Given the description of an element on the screen output the (x, y) to click on. 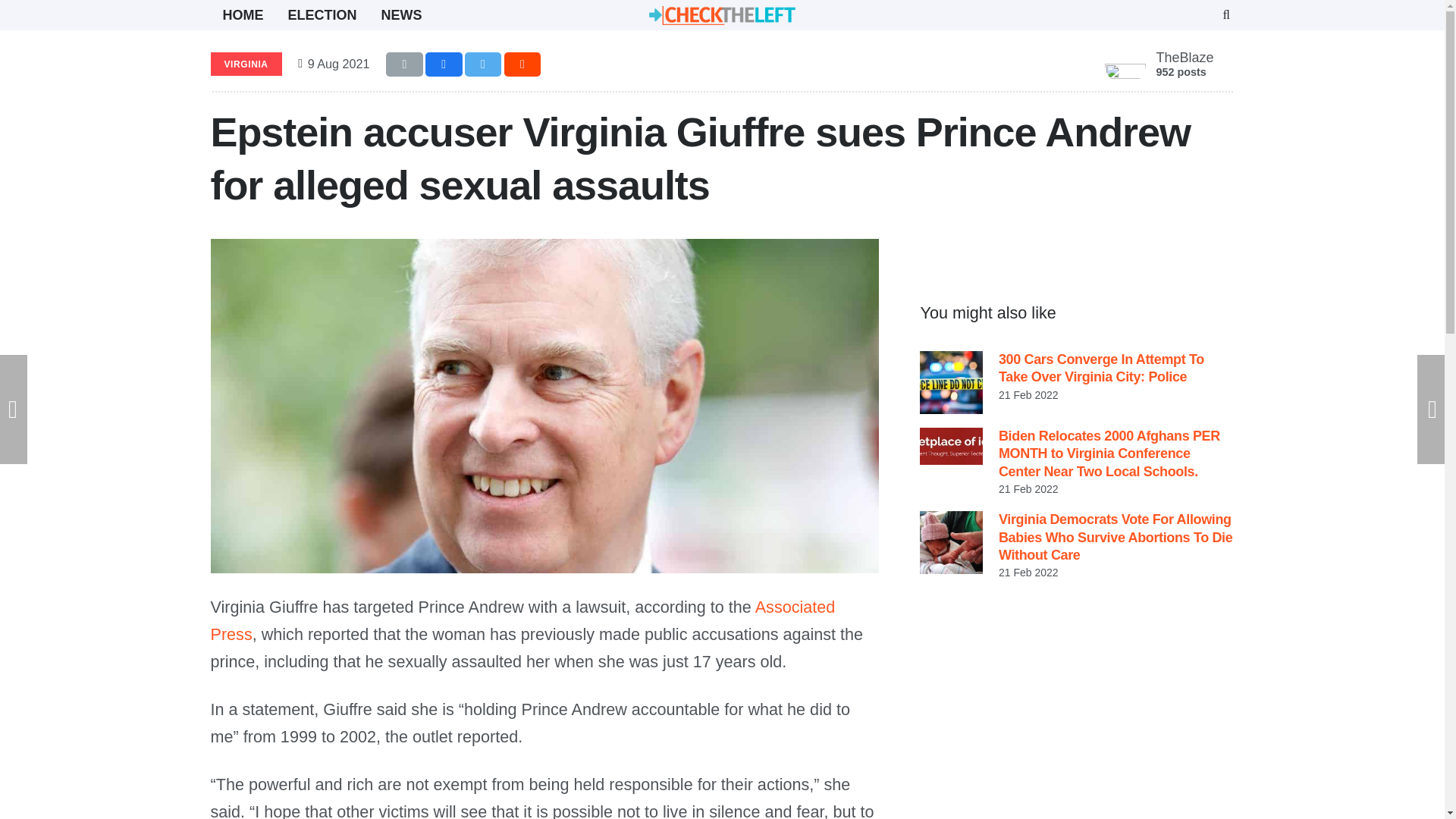
TheBlaze (1184, 57)
Tweet this (483, 64)
VIRGINIA (246, 64)
HOME (243, 15)
Share this (522, 64)
Associated Press (523, 620)
NEWS (401, 15)
Email this (404, 64)
ELECTION (322, 15)
